Given the description of an element on the screen output the (x, y) to click on. 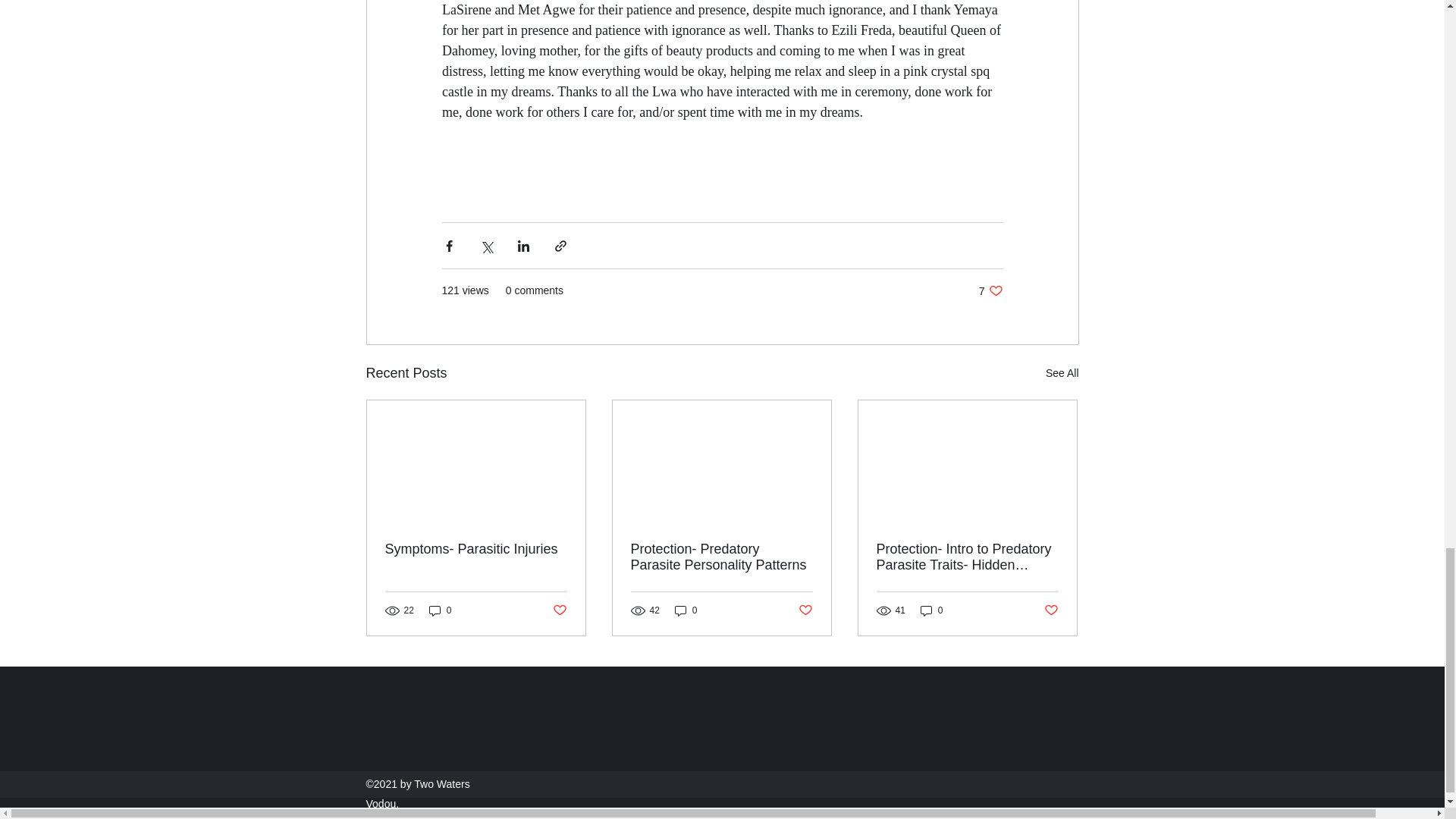
Post not marked as liked (990, 290)
Post not marked as liked (804, 610)
Protection- Predatory Parasite Personality Patterns (558, 610)
0 (721, 557)
Symptoms- Parasitic Injuries (931, 610)
0 (476, 549)
See All (685, 610)
0 (1061, 373)
